Given the description of an element on the screen output the (x, y) to click on. 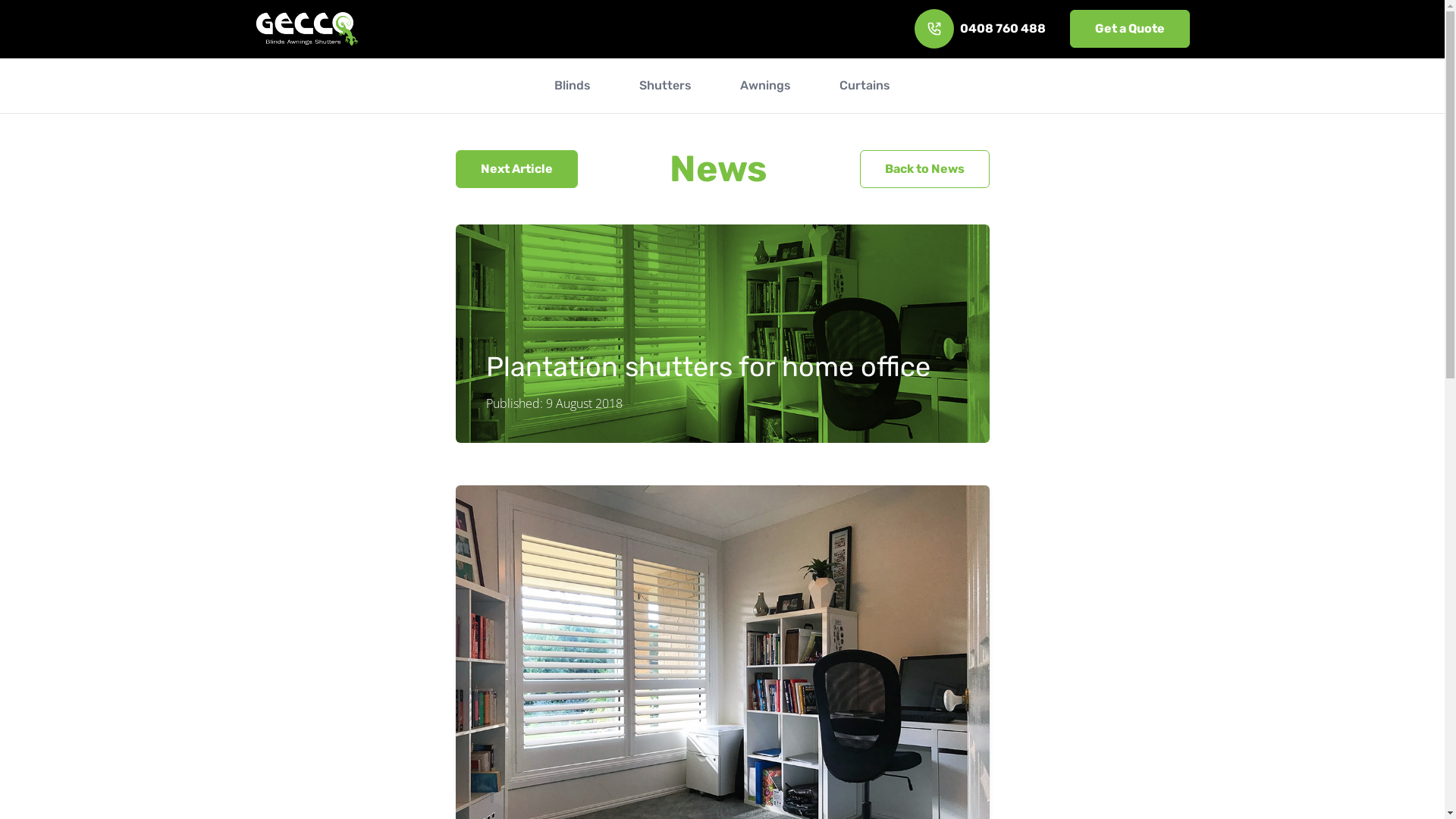
Next Article Element type: text (516, 169)
Get a Quote Element type: text (1129, 28)
News Element type: text (718, 168)
Curtains Element type: text (864, 85)
Shutters Element type: text (665, 85)
Back to News Element type: text (924, 169)
Blinds Element type: text (572, 85)
0408 760 488 Element type: text (979, 28)
Awnings Element type: text (765, 85)
